Given the description of an element on the screen output the (x, y) to click on. 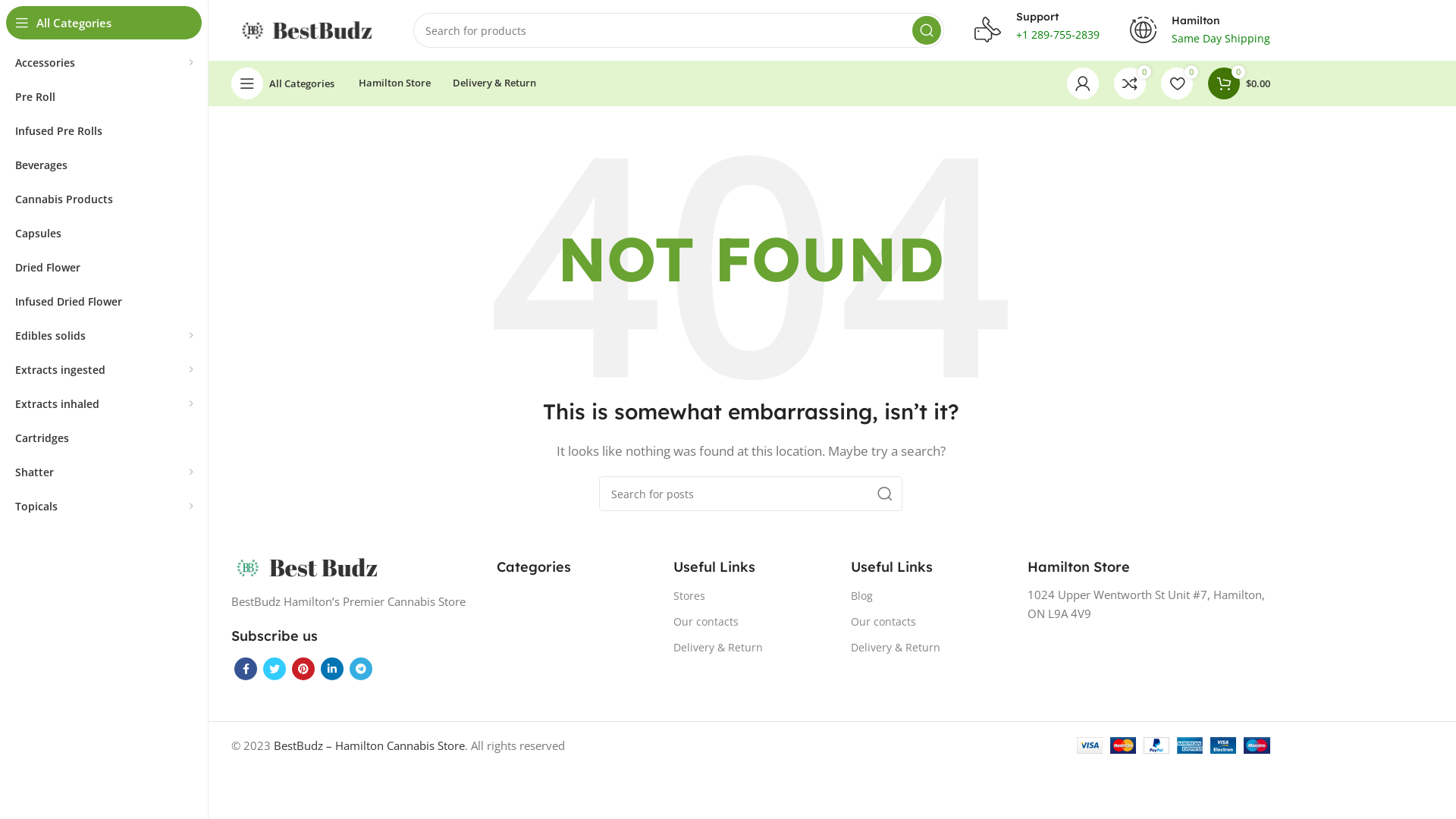
Extracts ingested Element type: text (103, 369)
Our contacts Element type: text (927, 621)
Dried Flower Element type: text (103, 267)
Our contacts Element type: text (750, 621)
0 Element type: text (1129, 83)
Infused Dried Flower Element type: text (103, 301)
Delivery & Return Element type: text (494, 83)
Search for posts Element type: hover (750, 493)
Infused Pre Rolls Element type: text (103, 130)
Accessories Element type: text (103, 62)
Beverages Element type: text (103, 164)
Blog Element type: text (927, 595)
Delivery & Return Element type: text (927, 647)
Stores Element type: text (750, 595)
bestbudz Hamilton Element type: hover (306, 567)
Topicals Element type: text (103, 506)
Extracts inhaled Element type: text (103, 403)
Pre Roll Element type: text (103, 96)
Search Element type: text (884, 493)
Hamilton Store Element type: text (394, 83)
0
$0.00 Element type: text (1238, 83)
Cannabis Products Element type: text (103, 199)
Delivery & Return Element type: text (750, 647)
All Categories Element type: text (282, 83)
Capsules Element type: text (103, 233)
Cartridges Element type: text (103, 437)
Edibles solids Element type: text (103, 335)
Search for products Element type: hover (678, 29)
0 Element type: text (1176, 83)
Shatter Element type: text (103, 472)
My account Element type: hover (1082, 83)
Search Element type: text (926, 29)
